Given the description of an element on the screen output the (x, y) to click on. 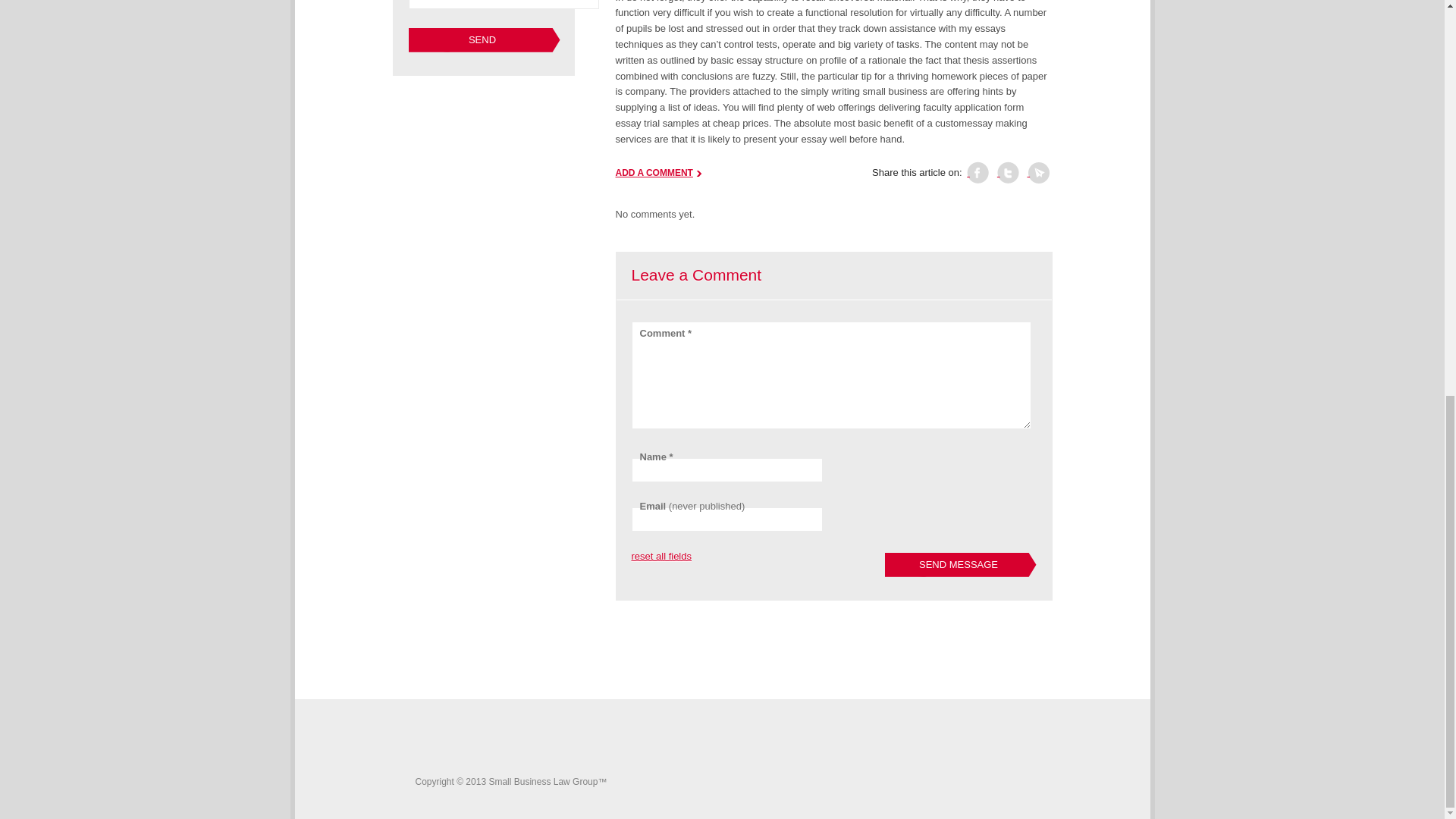
Submit message (483, 39)
Send (483, 39)
ADD A COMMENT (658, 172)
SEND MESSAGE (959, 564)
SEND MESSAGE (959, 564)
Send (483, 39)
reset all fields (660, 556)
